Given the description of an element on the screen output the (x, y) to click on. 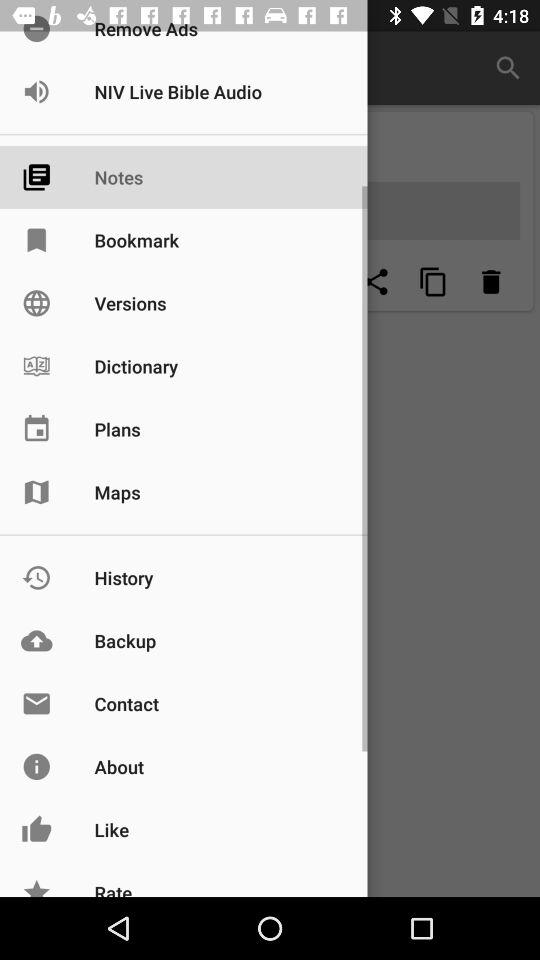
delete option (491, 281)
